Given the description of an element on the screen output the (x, y) to click on. 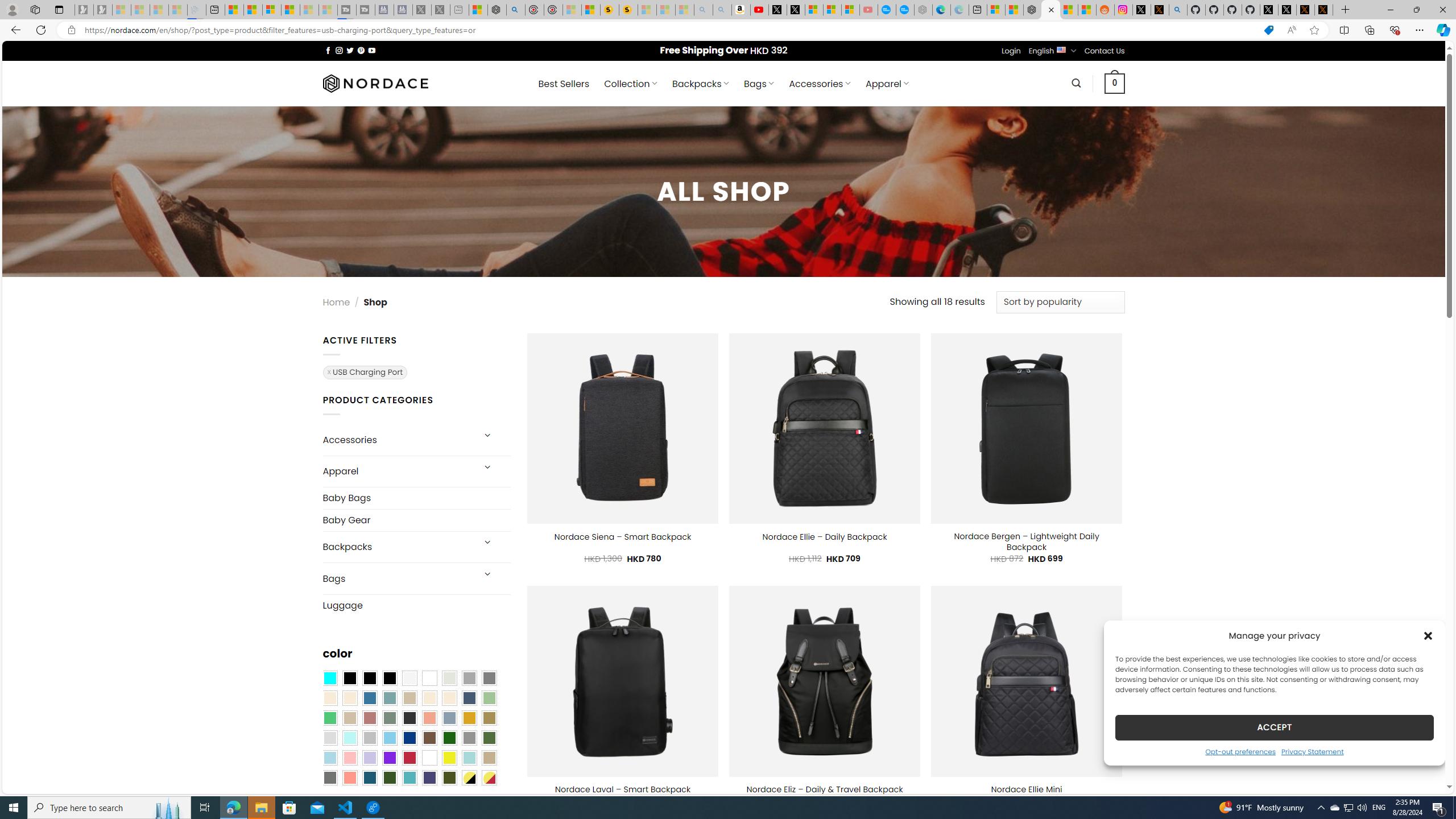
amazon - Search - Sleeping (702, 9)
Microsoft Start - Sleeping (309, 9)
Capri Blue (369, 777)
Dark Green (449, 737)
View site information (70, 29)
Nordace - Nordace has arrived Hong Kong - Sleeping (923, 9)
Log in to X / X (1142, 9)
Refresh (40, 29)
Settings and more (Alt+F) (1419, 29)
